Given the description of an element on the screen output the (x, y) to click on. 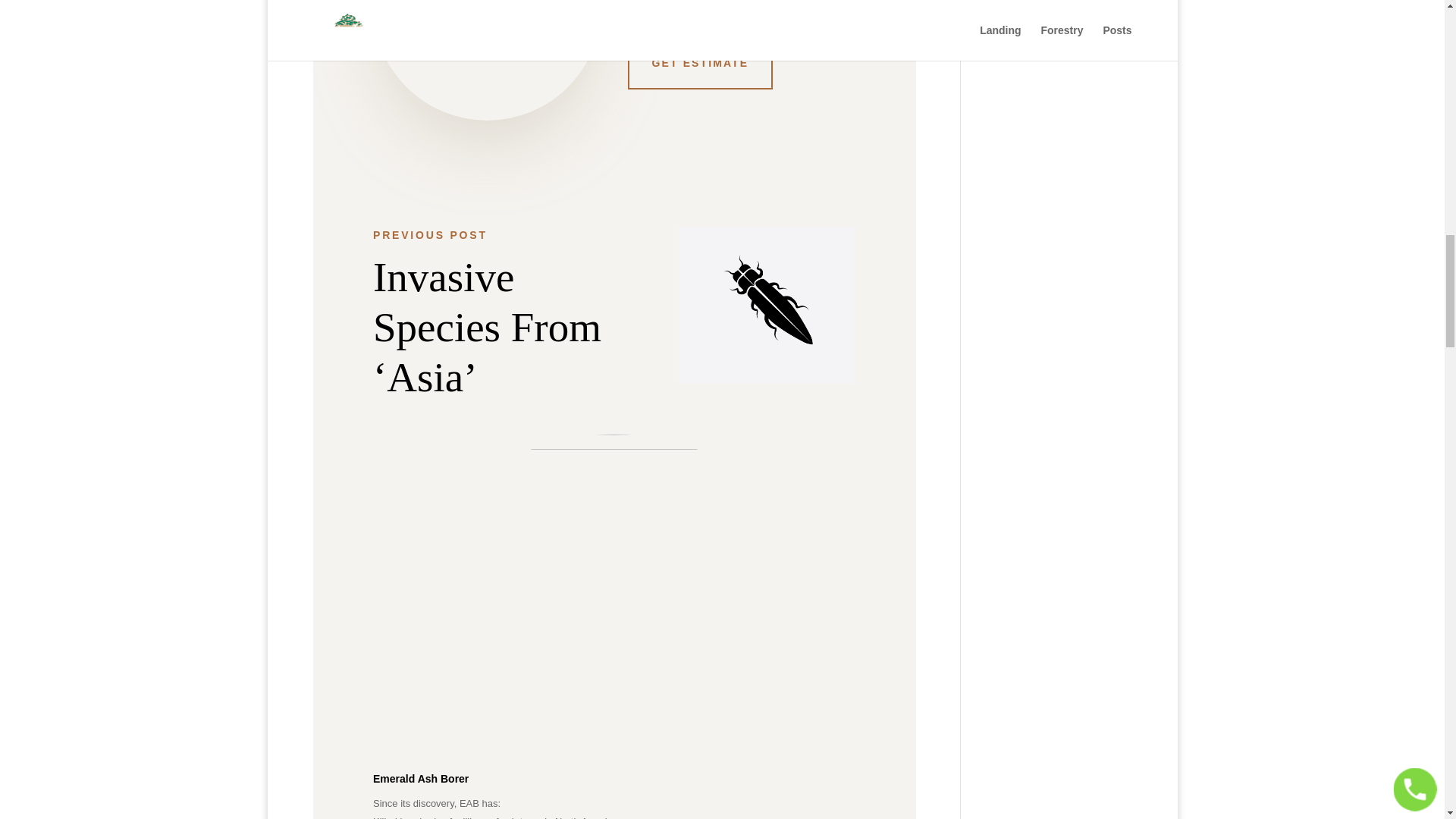
KIMG5113 (486, 60)
GET ESTIMATE (700, 63)
